Given the description of an element on the screen output the (x, y) to click on. 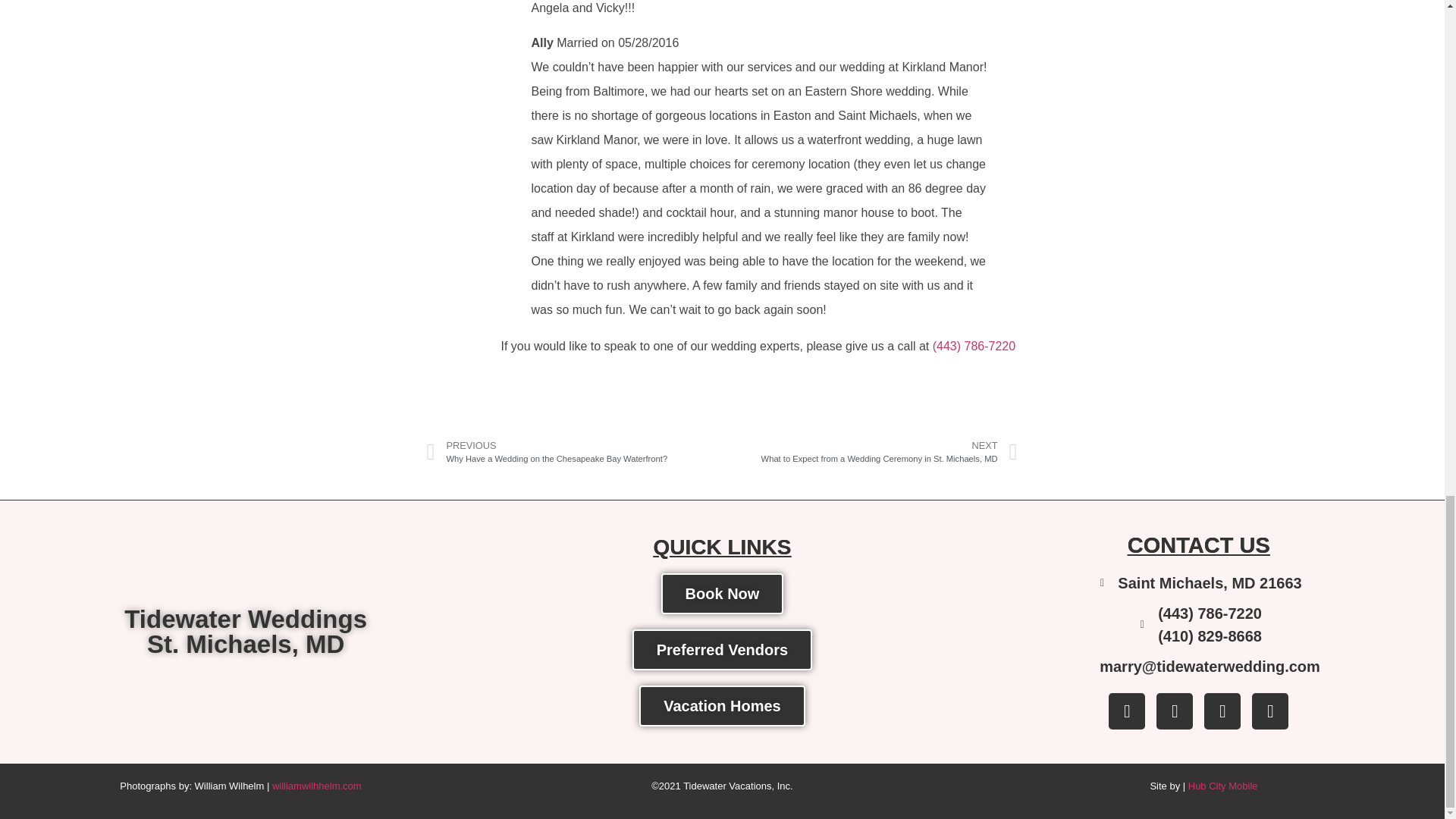
Preferred Vendors (721, 649)
williamwilhhelm.com (316, 785)
Vacation Homes (722, 705)
Book Now (244, 631)
Hub City Mobile (722, 593)
